Given the description of an element on the screen output the (x, y) to click on. 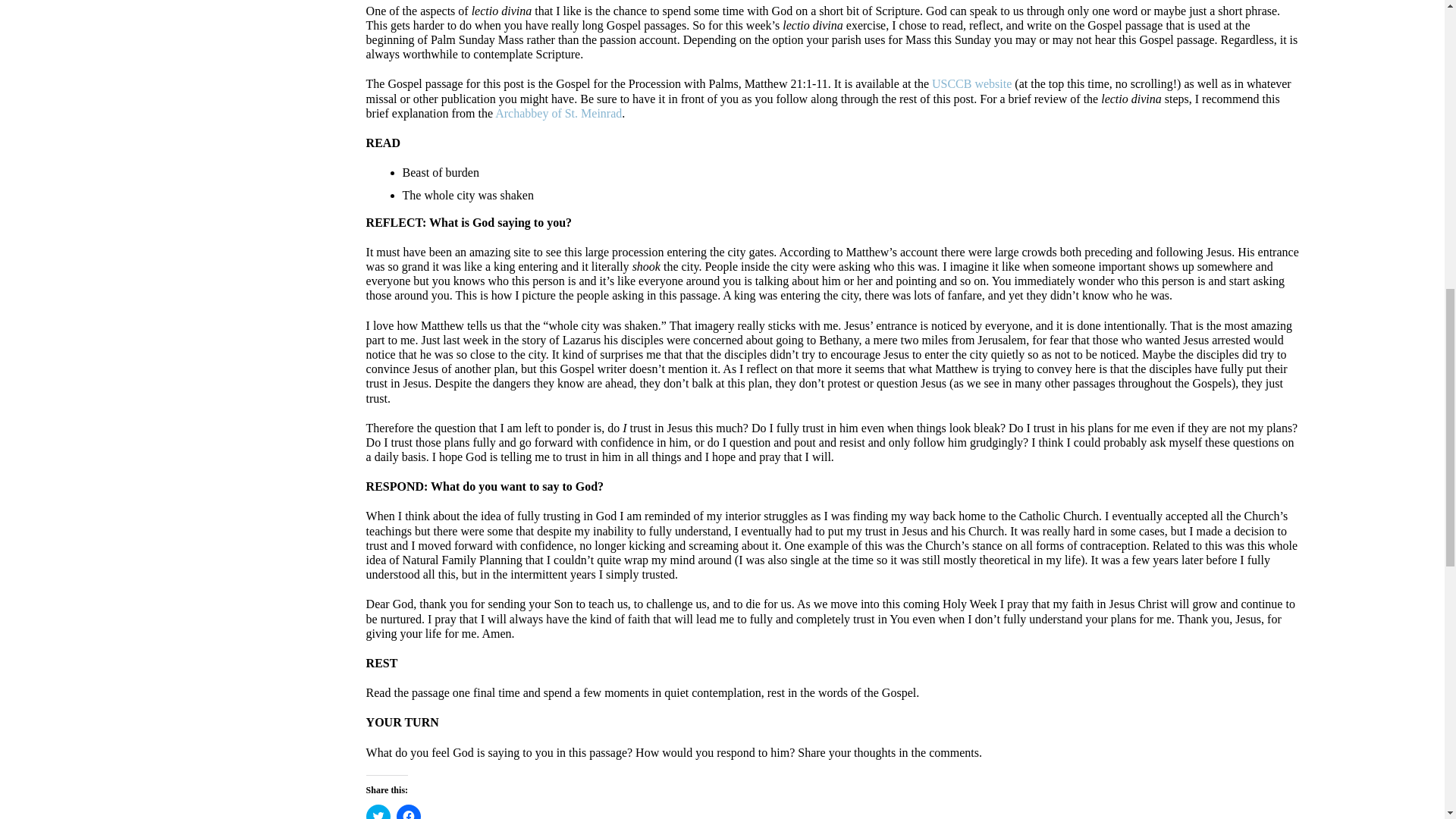
Click to share on Facebook (408, 811)
USCCB website (971, 83)
Click to share on Twitter (378, 811)
Archabbey of St. Meinrad (558, 113)
